Given the description of an element on the screen output the (x, y) to click on. 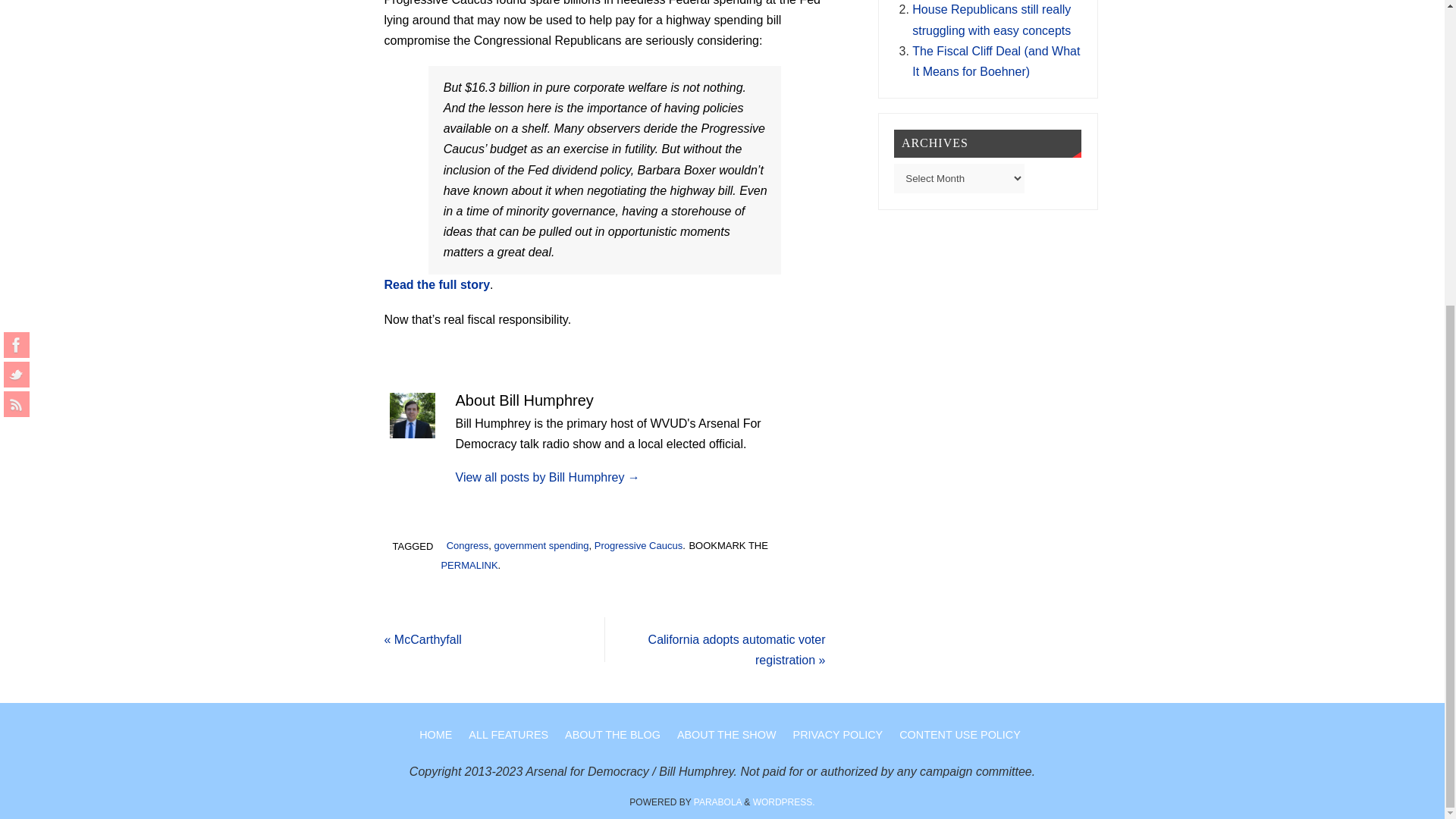
government spending (542, 545)
Progressive Caucus (638, 545)
PERMALINK (469, 564)
Parabola Theme by Cryout Creations (717, 801)
Read the full story (436, 284)
Congress (467, 545)
Semantic Personal Publishing Platform (783, 801)
